Given the description of an element on the screen output the (x, y) to click on. 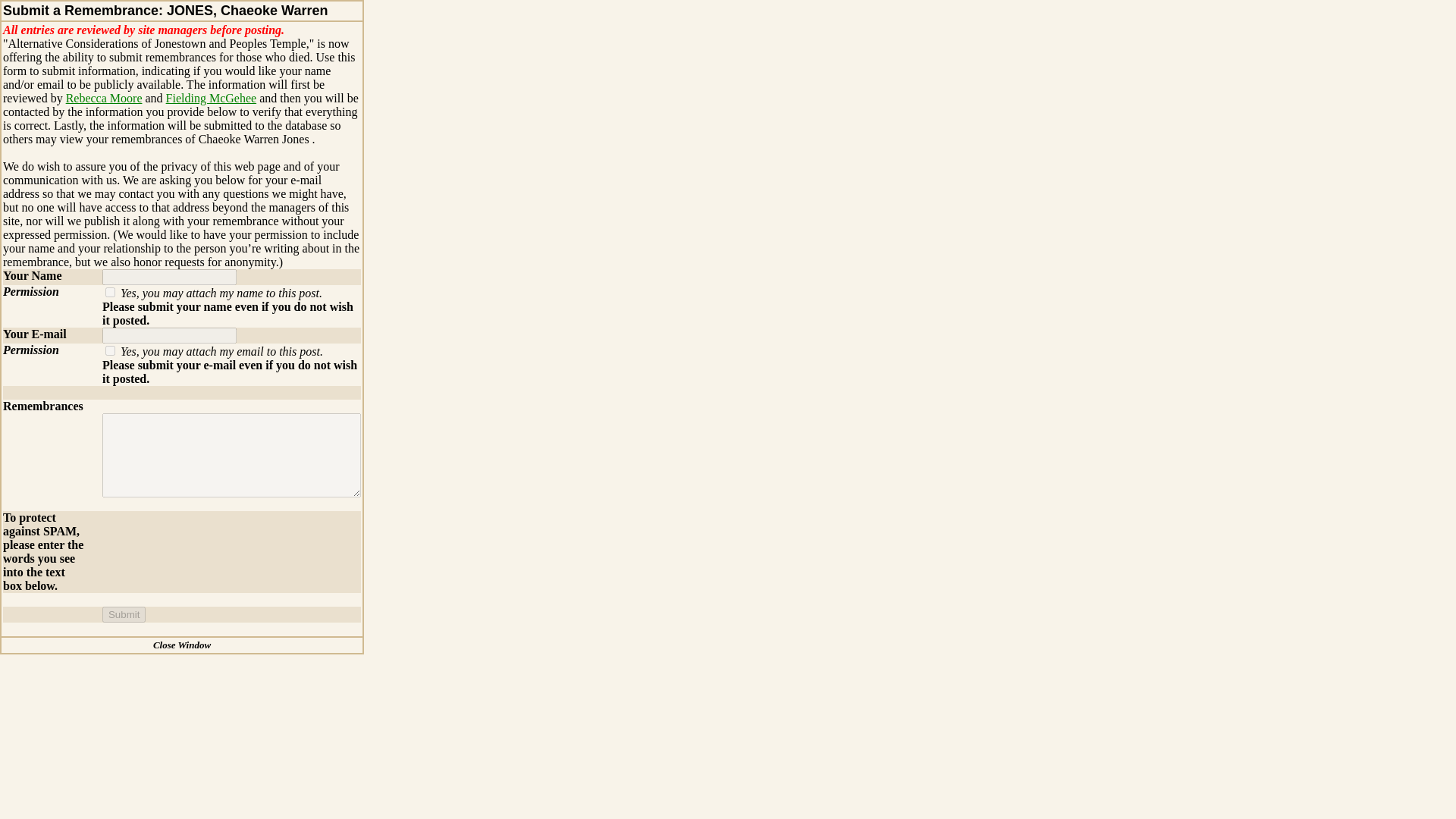
Submit (123, 614)
Close Window (181, 644)
Rebecca Moore (103, 97)
777 (109, 350)
Fielding McGehee (211, 97)
777 (109, 292)
Submit (123, 614)
